Given the description of an element on the screen output the (x, y) to click on. 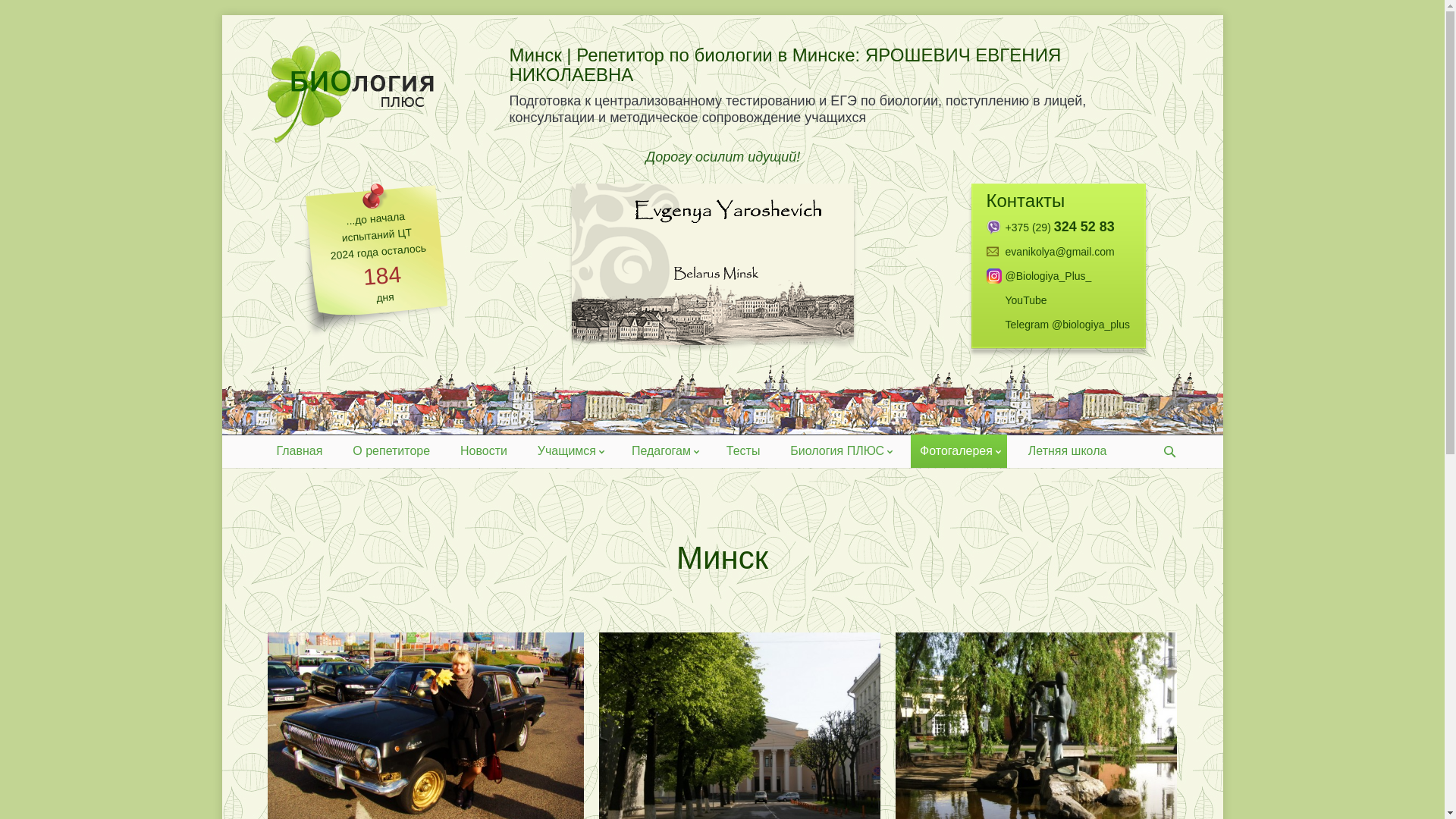
evanikolya@gmail.com Element type: text (1058, 251)
YouTube Element type: text (1058, 299)
+375 (29) 324 52 83 Element type: text (1058, 226)
Go! Element type: text (17, 12)
@Biologiya_Plus_ Element type: text (1058, 275)
Telegram @biologiya_plus Element type: text (1058, 335)
